Given the description of an element on the screen output the (x, y) to click on. 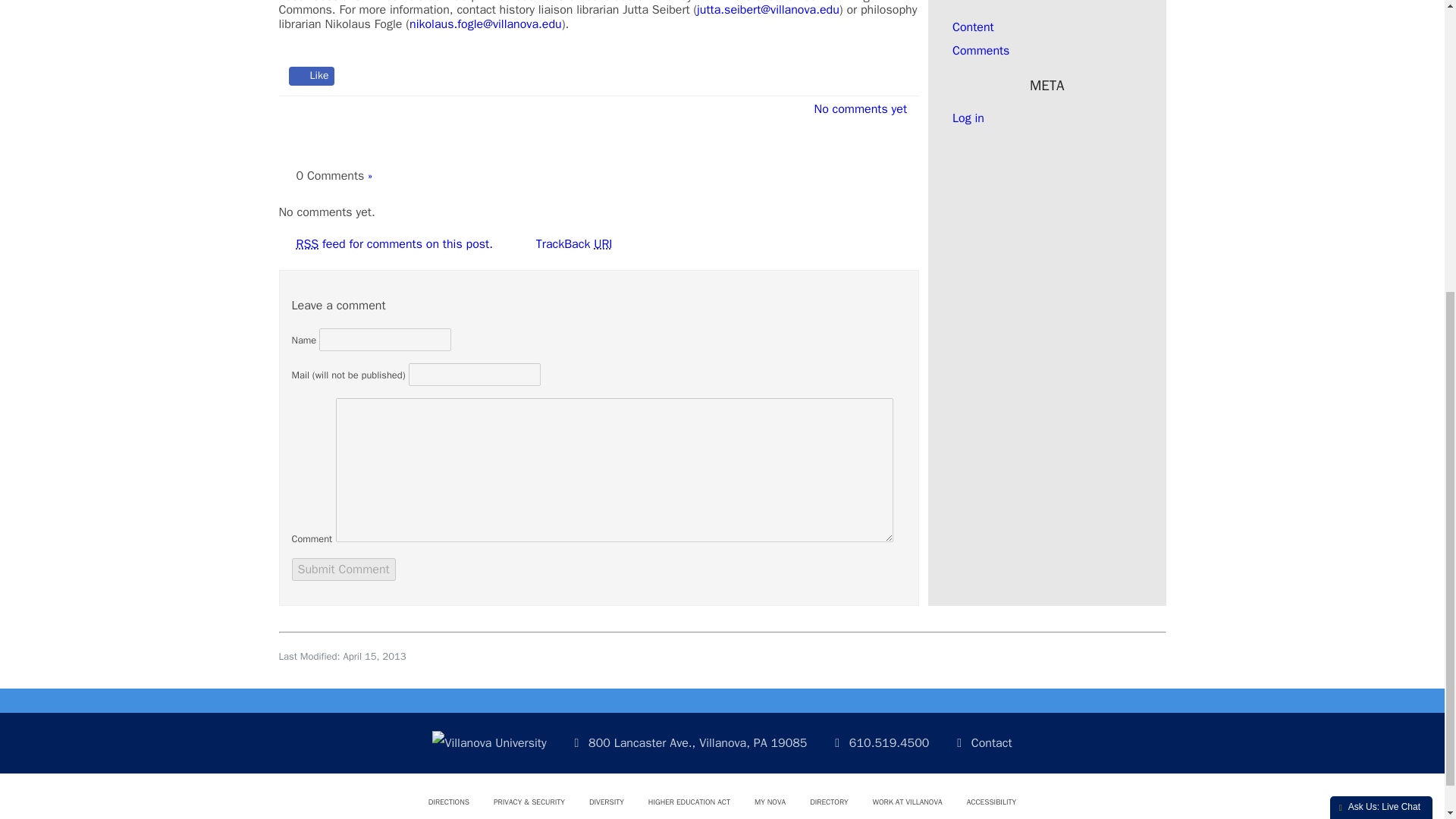
RSS feed for comments on this post. (393, 243)
No comments yet (855, 108)
Content (973, 27)
Uniform Resource Identifier (602, 243)
Syndicate this site using RSS (973, 27)
Really Simple Syndication (306, 243)
Submit Comment (342, 568)
Submit Comment (342, 568)
Log in (968, 118)
TrackBack URI (569, 243)
